Given the description of an element on the screen output the (x, y) to click on. 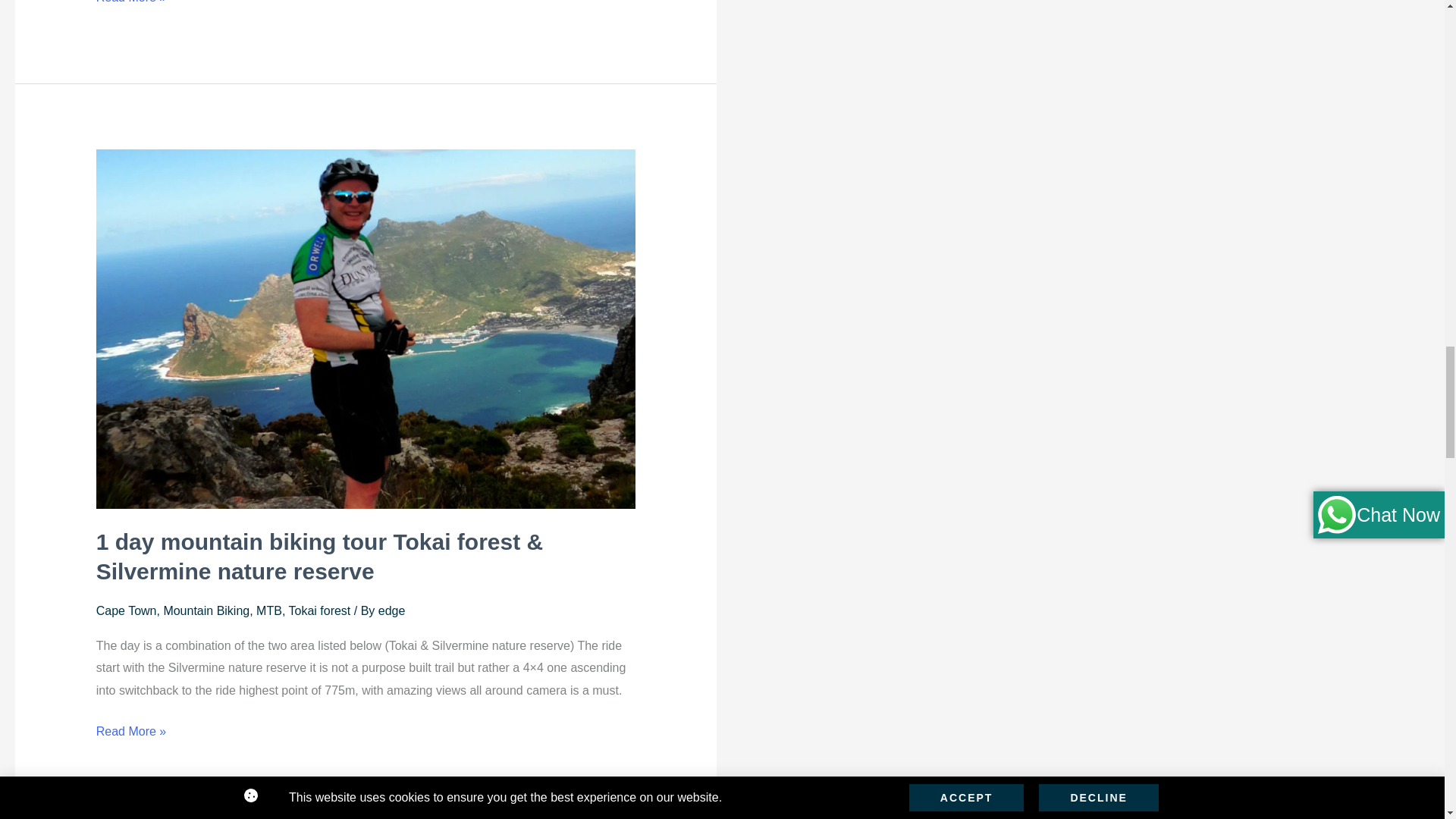
View all posts by edge (392, 610)
